Given the description of an element on the screen output the (x, y) to click on. 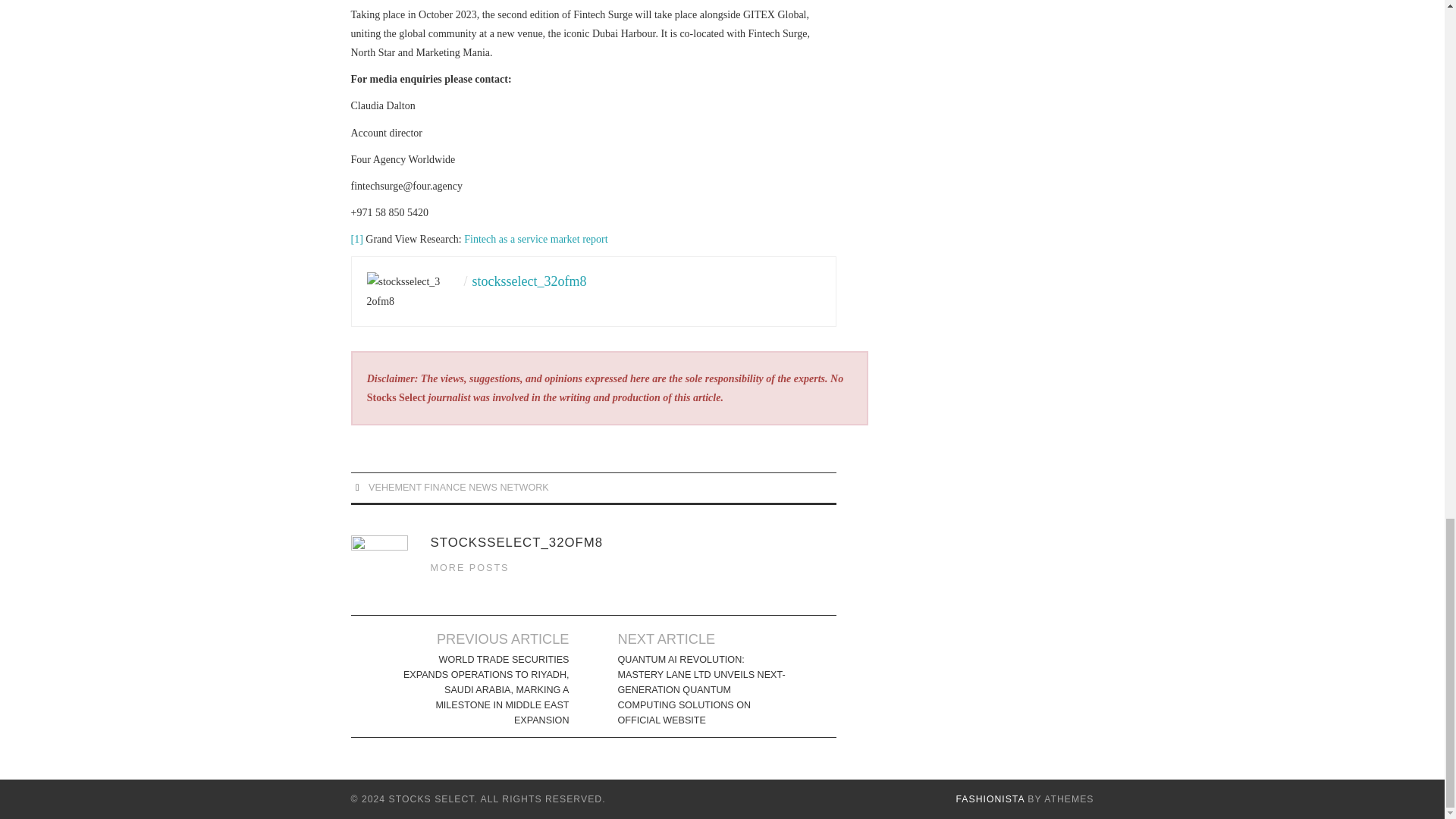
Fintech as a service market report (535, 238)
MORE POSTS (469, 567)
VEHEMENT FINANCE NEWS NETWORK (458, 487)
